Given the description of an element on the screen output the (x, y) to click on. 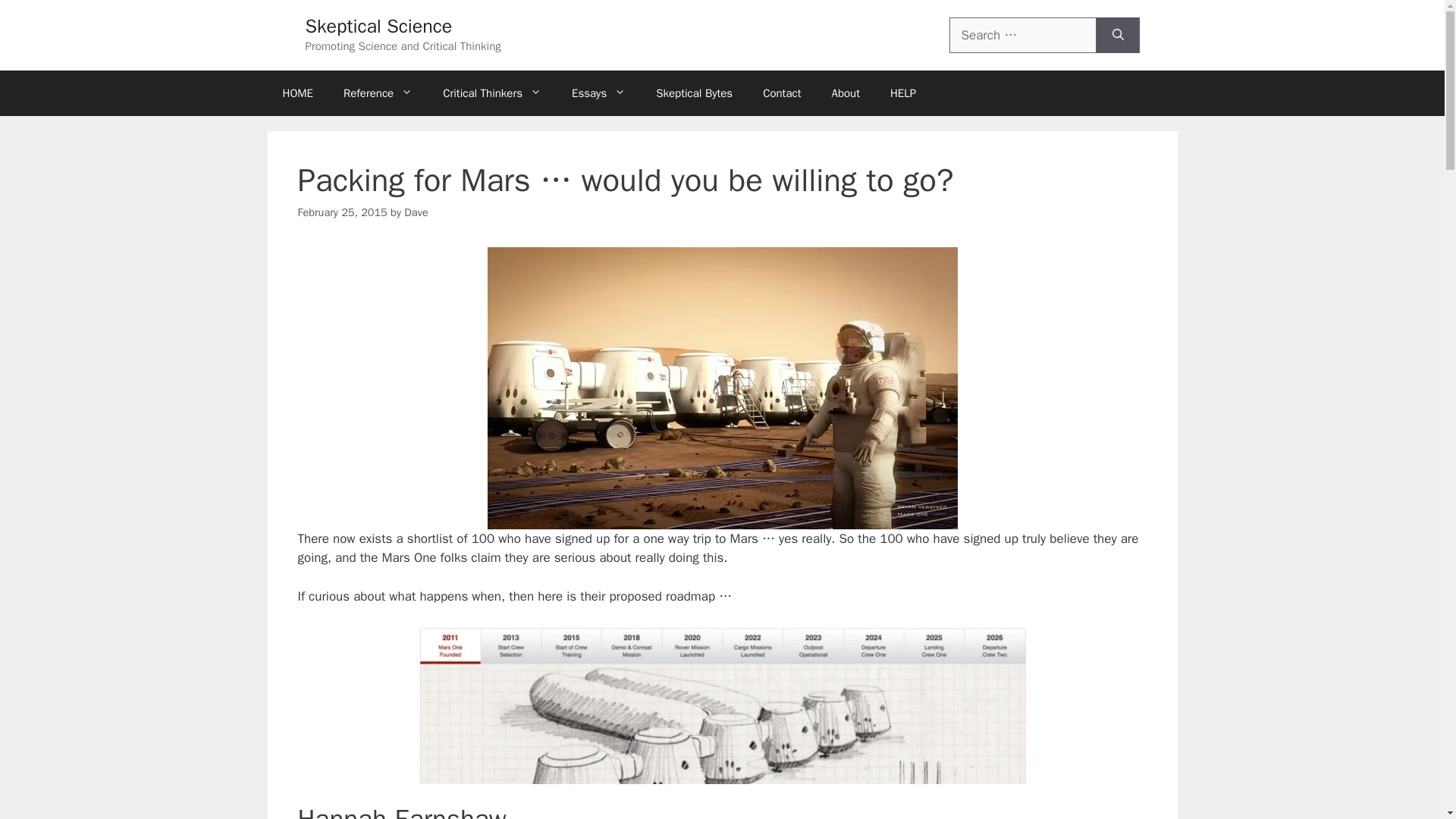
Contact (781, 92)
View all posts by Dave (416, 212)
Skeptical Science (377, 25)
Reference (378, 92)
Skeptical Bytes (694, 92)
Dave (416, 212)
Essays (598, 92)
HOME (296, 92)
Search for: (1022, 34)
About (845, 92)
Critical Thinkers (492, 92)
HELP (903, 92)
